Given the description of an element on the screen output the (x, y) to click on. 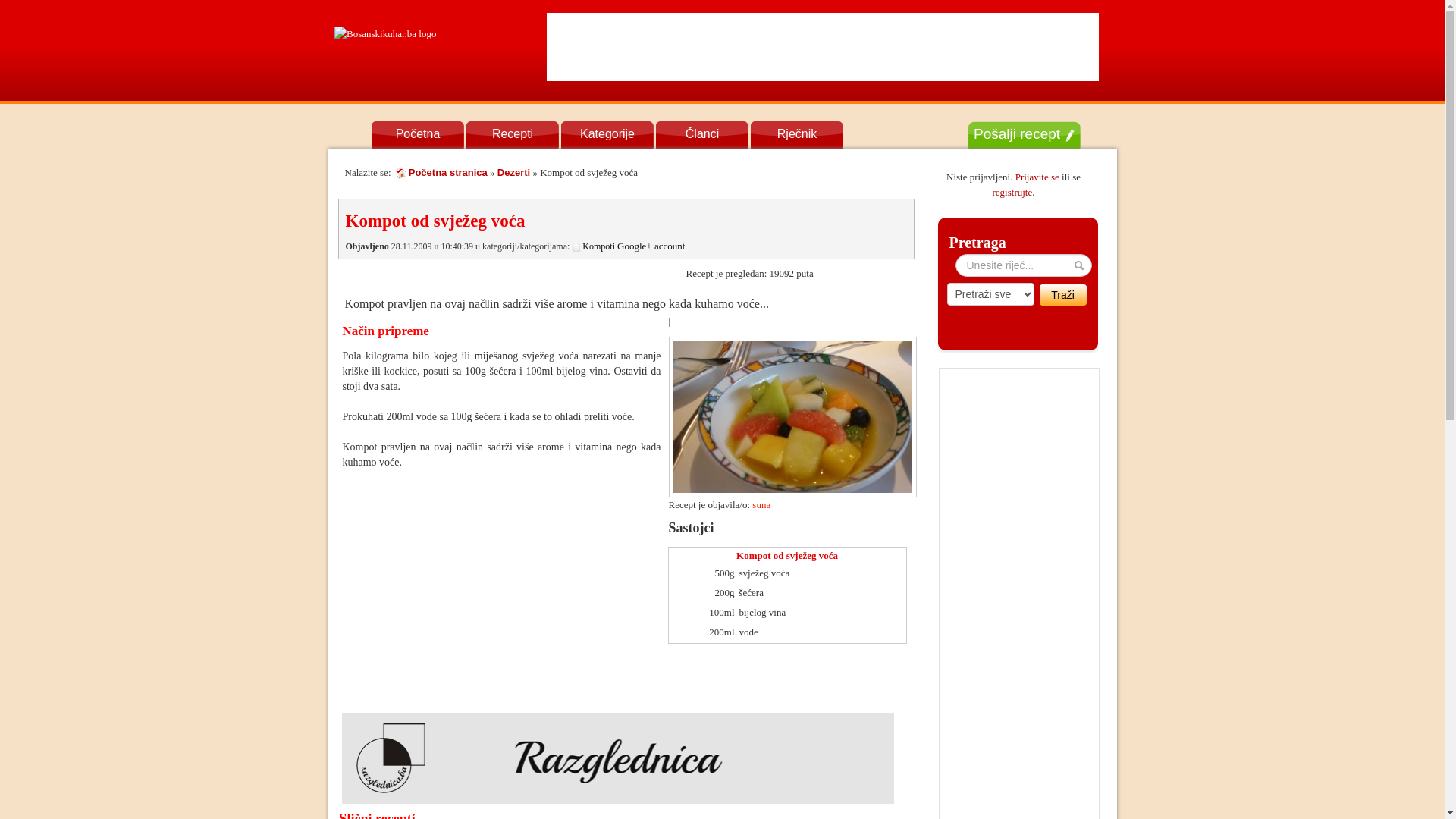
Kompoti Element type: text (598, 246)
Prijavite se Element type: text (1037, 176)
Kategorije Element type: text (607, 137)
Dezerti Element type: text (513, 172)
Advertisement Element type: hover (822, 46)
Google+ account Element type: text (650, 245)
Recepti Element type: text (512, 137)
suna Element type: text (761, 504)
registrujte Element type: text (1012, 191)
Advertisement Element type: hover (469, 591)
